Given the description of an element on the screen output the (x, y) to click on. 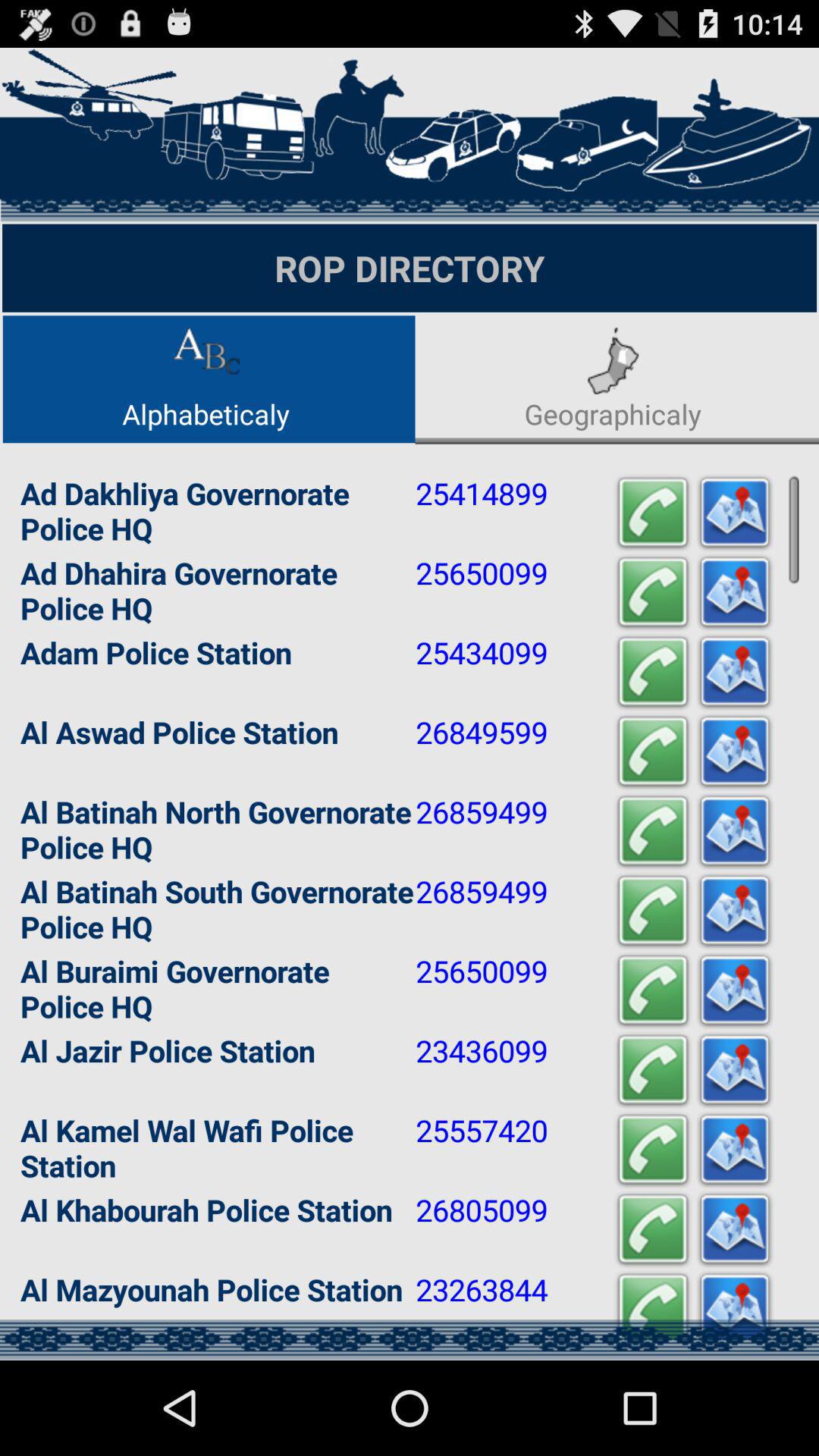
select the item above the 25650099 app (652, 512)
